Given the description of an element on the screen output the (x, y) to click on. 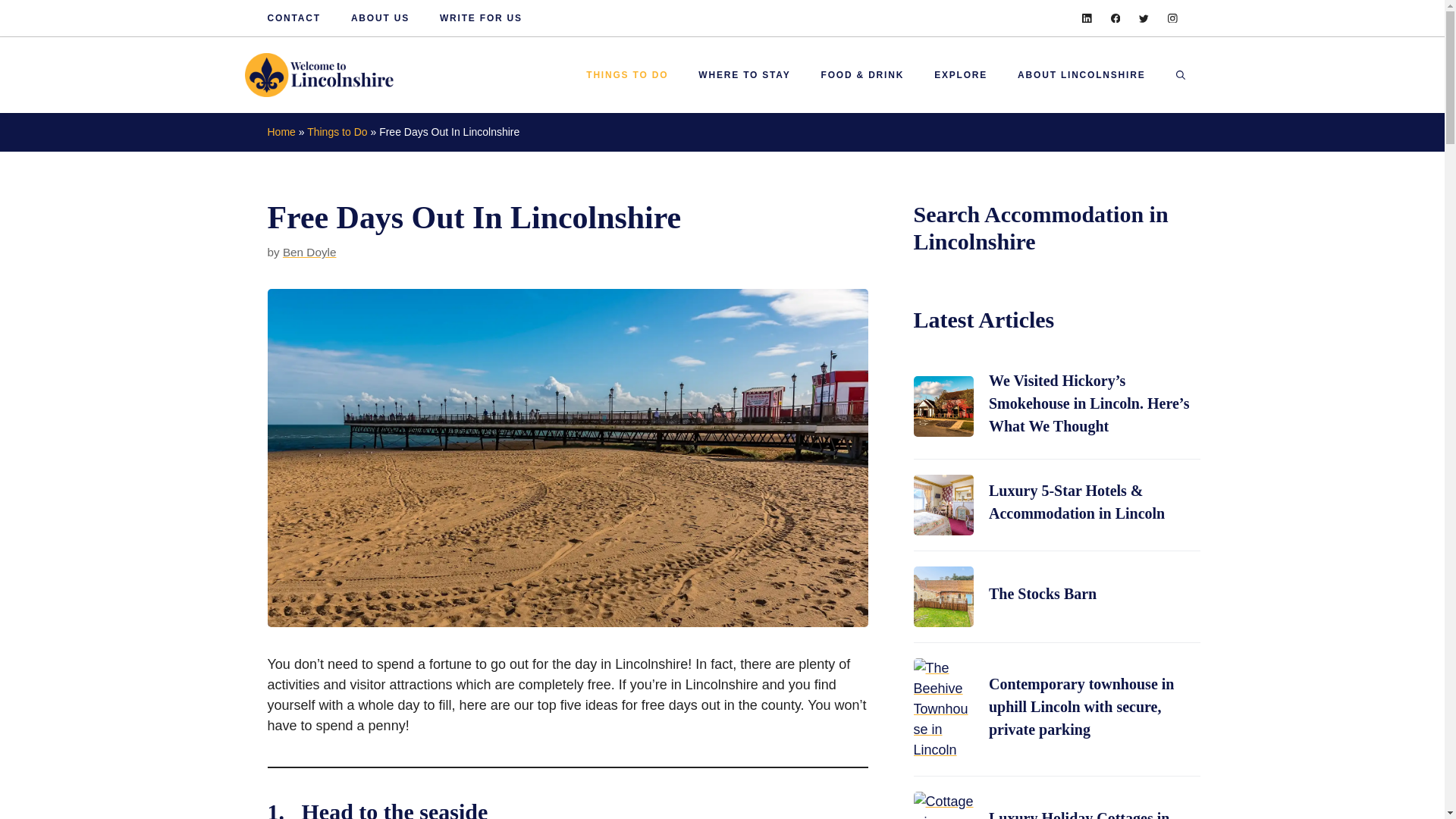
ABOUT LINCOLNSHIRE (1081, 74)
View all posts by Ben Doyle (309, 251)
EXPLORE (960, 74)
Ben Doyle (309, 251)
CONTACT (293, 18)
WRITE FOR US (480, 18)
WHERE TO STAY (743, 74)
THINGS TO DO (626, 74)
Things to Do (336, 132)
Home (280, 132)
ABOUT US (379, 18)
